Given the description of an element on the screen output the (x, y) to click on. 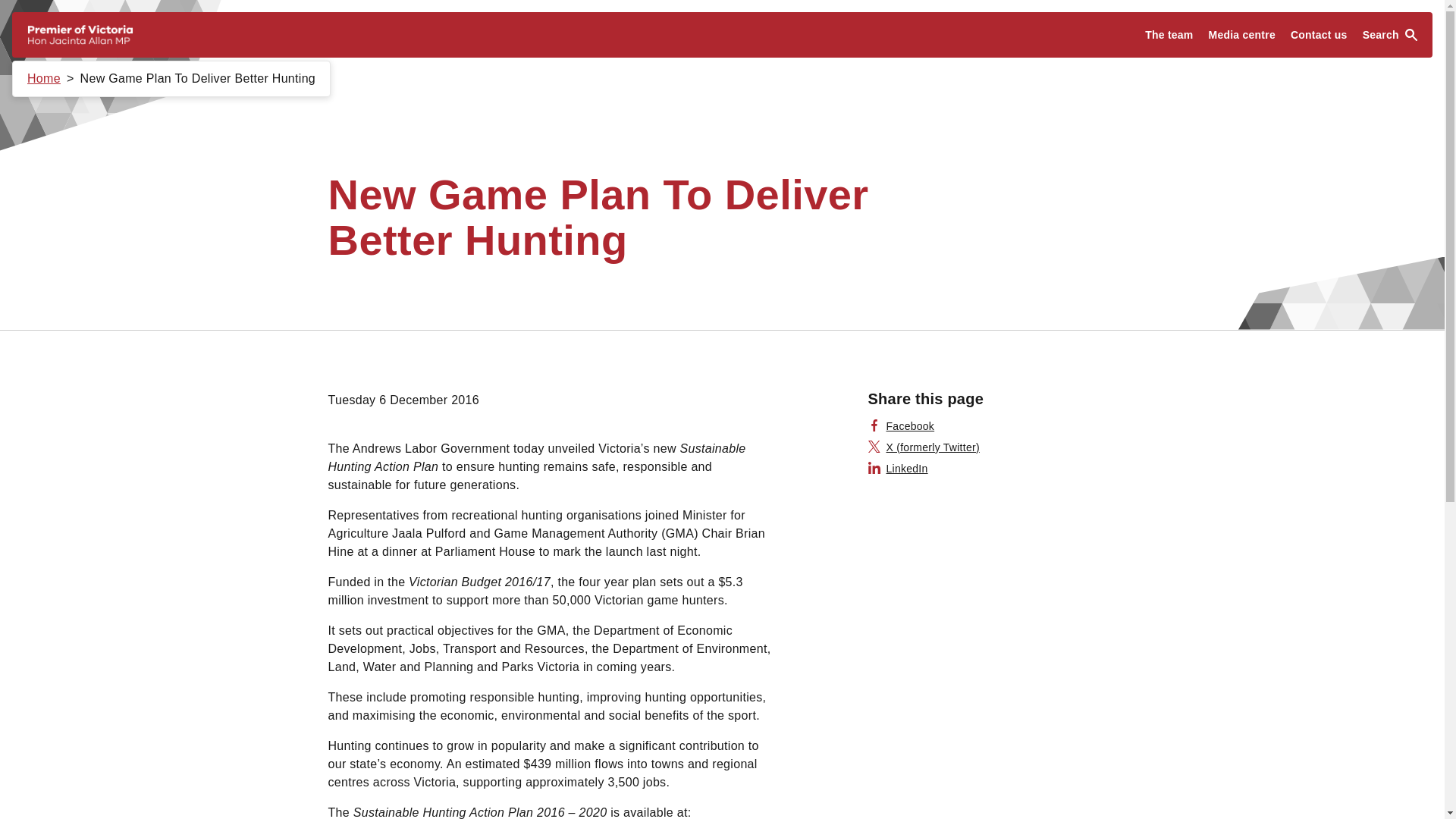
Facebook (900, 426)
Media centre (1241, 34)
LinkedIn (897, 468)
Home (44, 78)
The team (1168, 34)
Contact us (1318, 34)
